Given the description of an element on the screen output the (x, y) to click on. 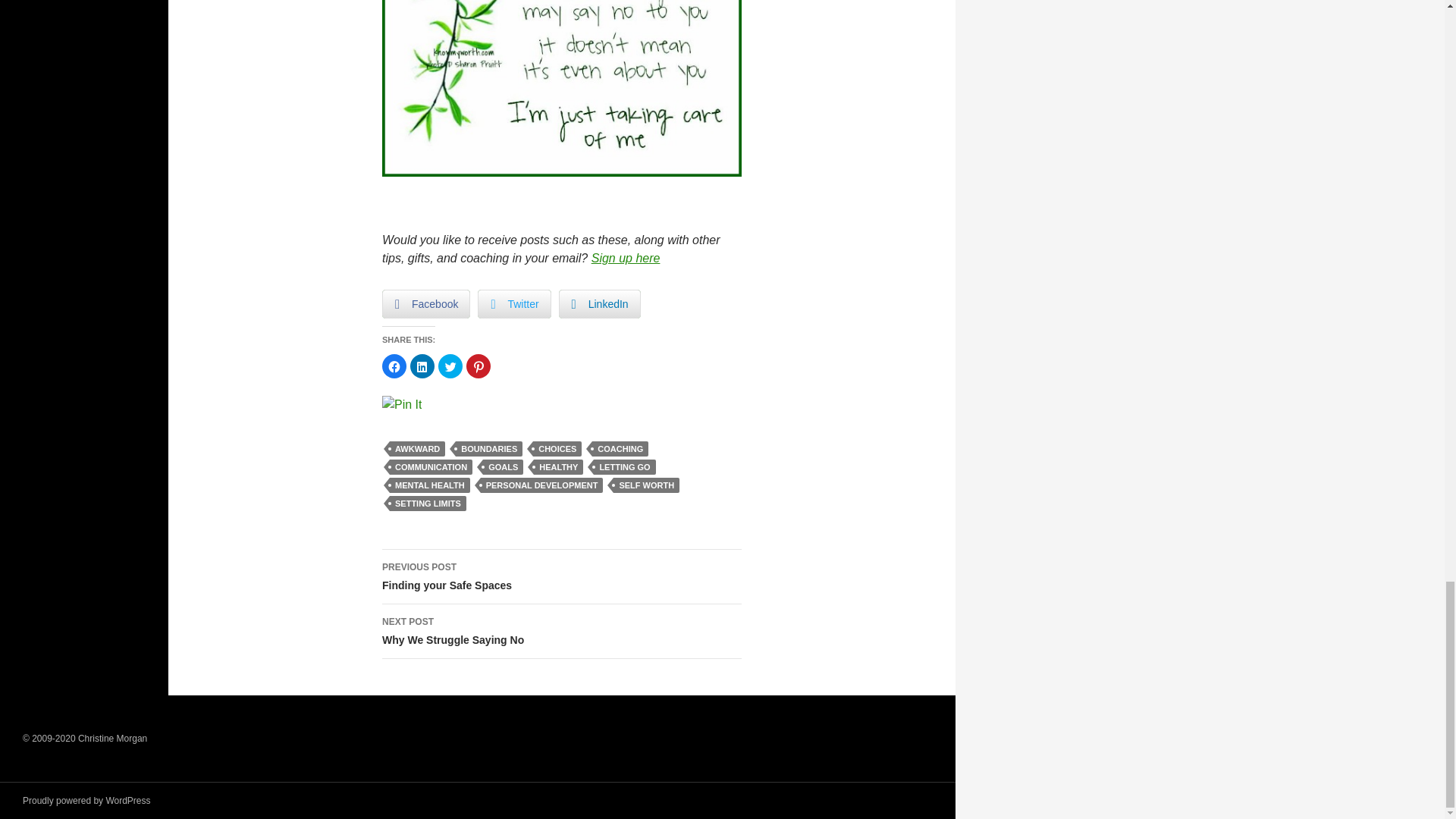
Click to share on Facebook (393, 365)
LinkedIn (599, 303)
PERSONAL DEVELOPMENT (542, 485)
AWKWARD (417, 448)
Twitter (513, 303)
Facebook (425, 303)
GOALS (502, 467)
SETTING LIMITS (427, 503)
BOUNDARIES (488, 448)
MENTAL HEALTH (430, 485)
